Given the description of an element on the screen output the (x, y) to click on. 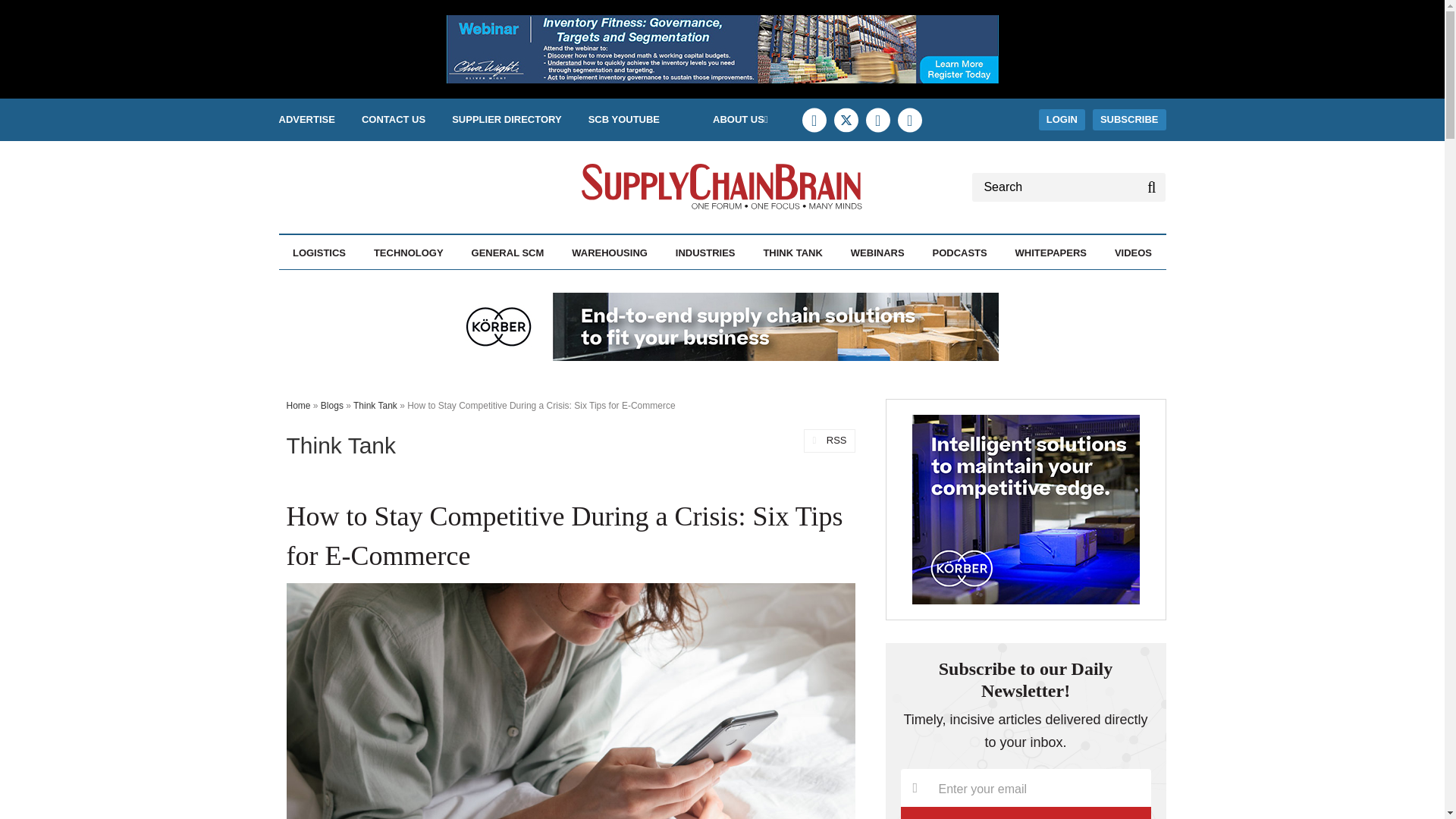
Oliver Wight  - WEBINAR (721, 49)
Korber-AI-728x90-2.jpg (721, 326)
Korber-AI-300x250-4.jpg (1024, 509)
Subscribe (1026, 812)
